Given the description of an element on the screen output the (x, y) to click on. 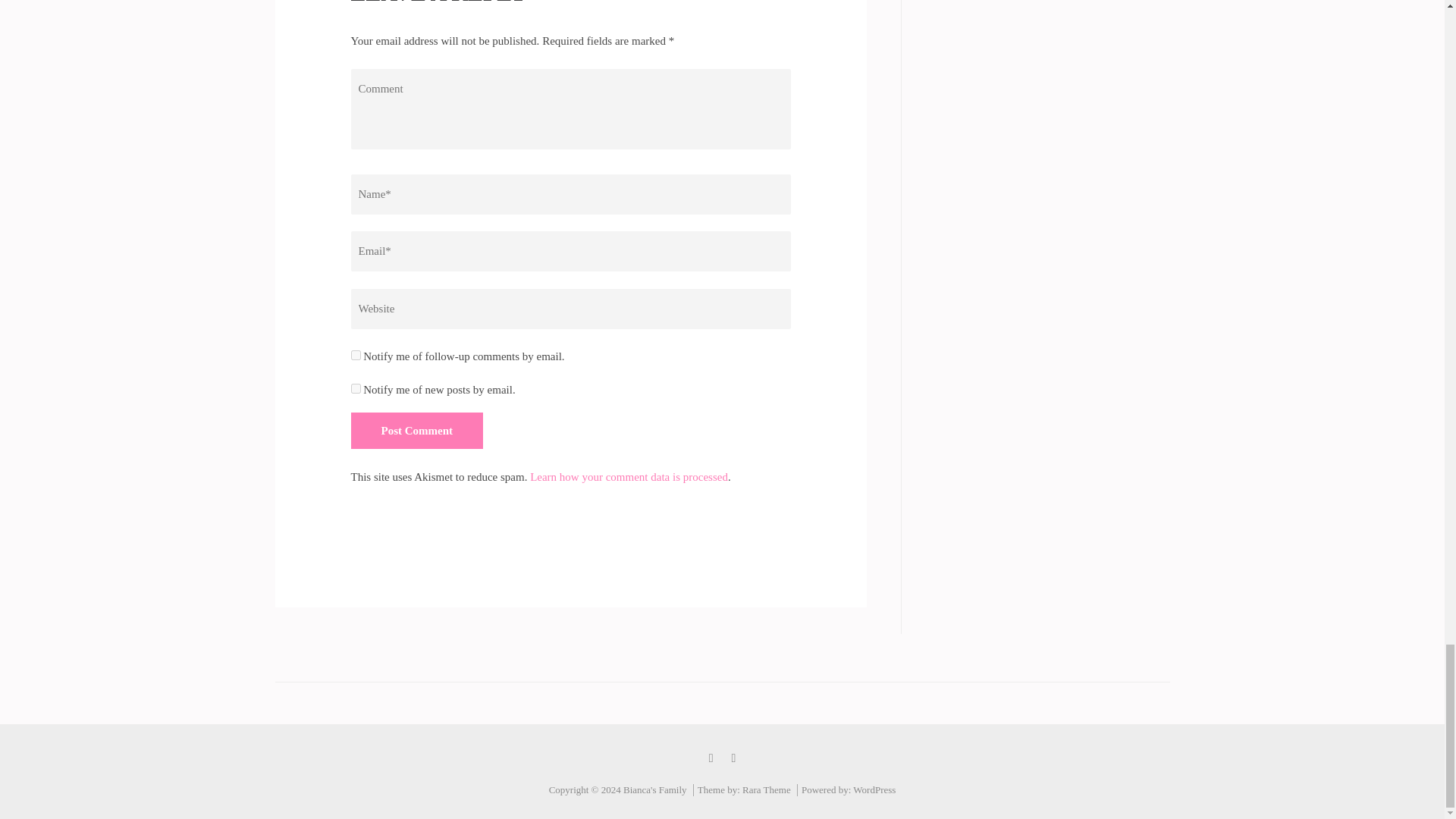
subscribe (354, 388)
Post Comment (416, 430)
subscribe (354, 355)
